Given the description of an element on the screen output the (x, y) to click on. 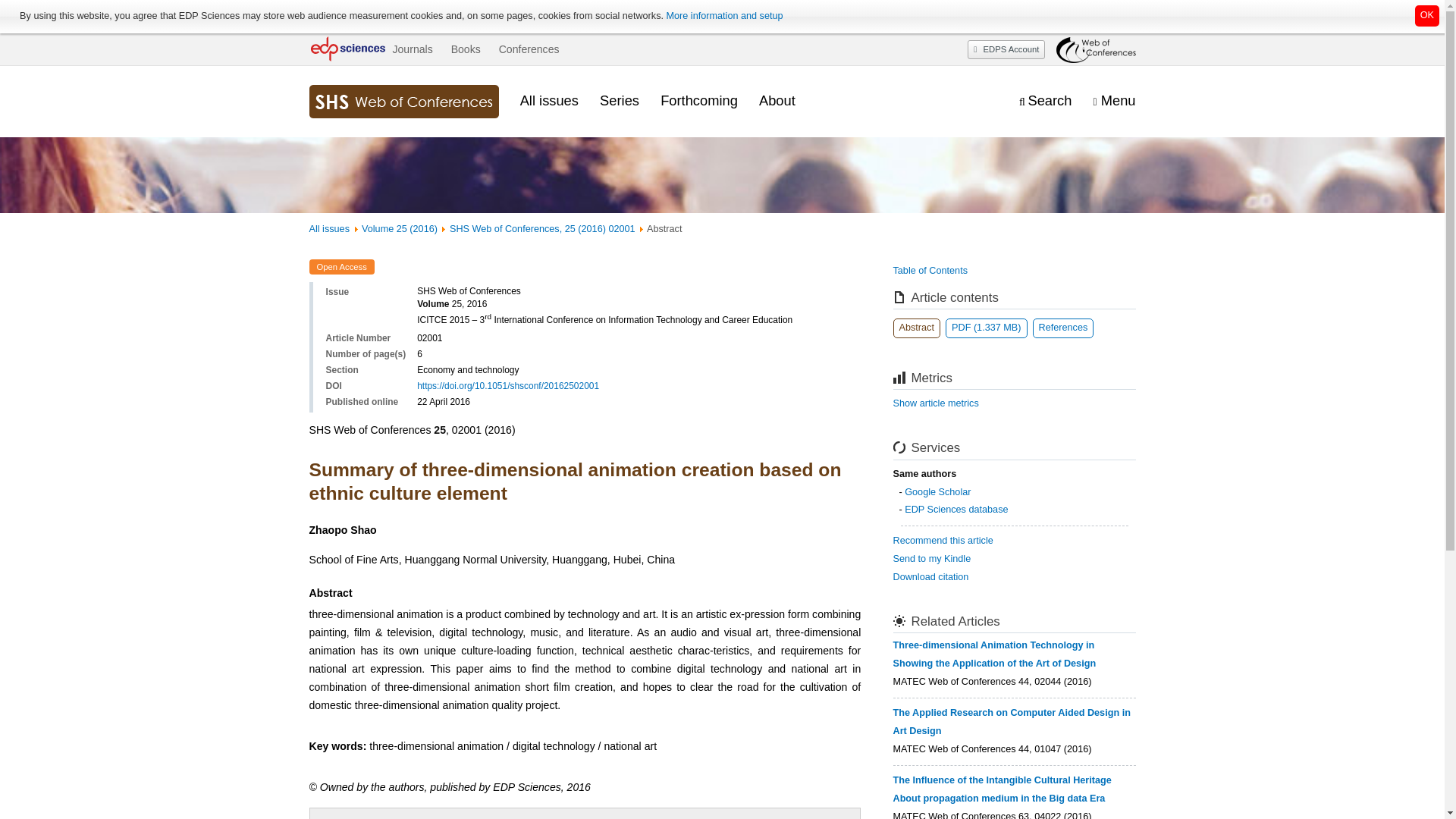
Abstract (916, 328)
Journals (411, 49)
More information and setup (724, 15)
OK (1427, 15)
Journal homepage (403, 101)
Display the search engine (1045, 101)
Conferences (529, 49)
Click to close this notification (1427, 15)
Books (465, 49)
